Given the description of an element on the screen output the (x, y) to click on. 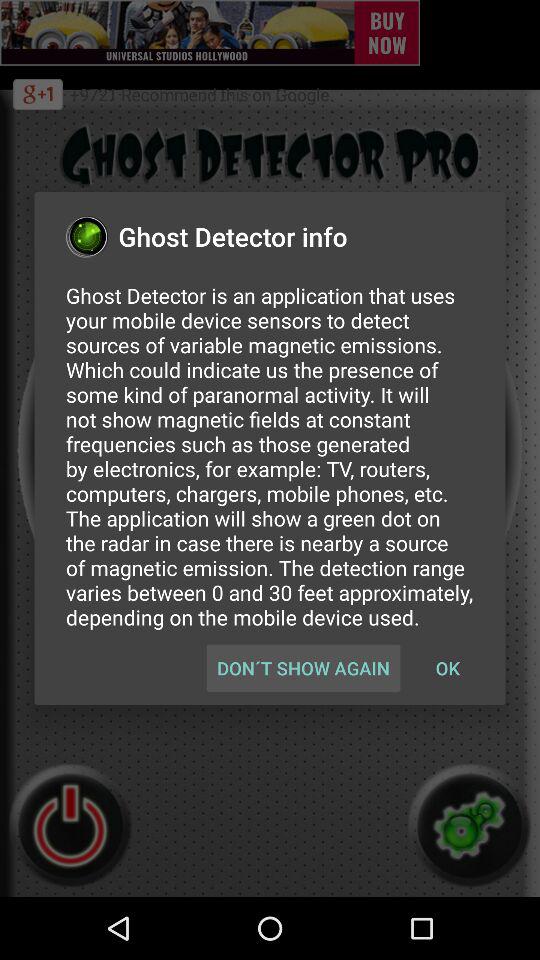
open button next to don t show button (447, 667)
